Given the description of an element on the screen output the (x, y) to click on. 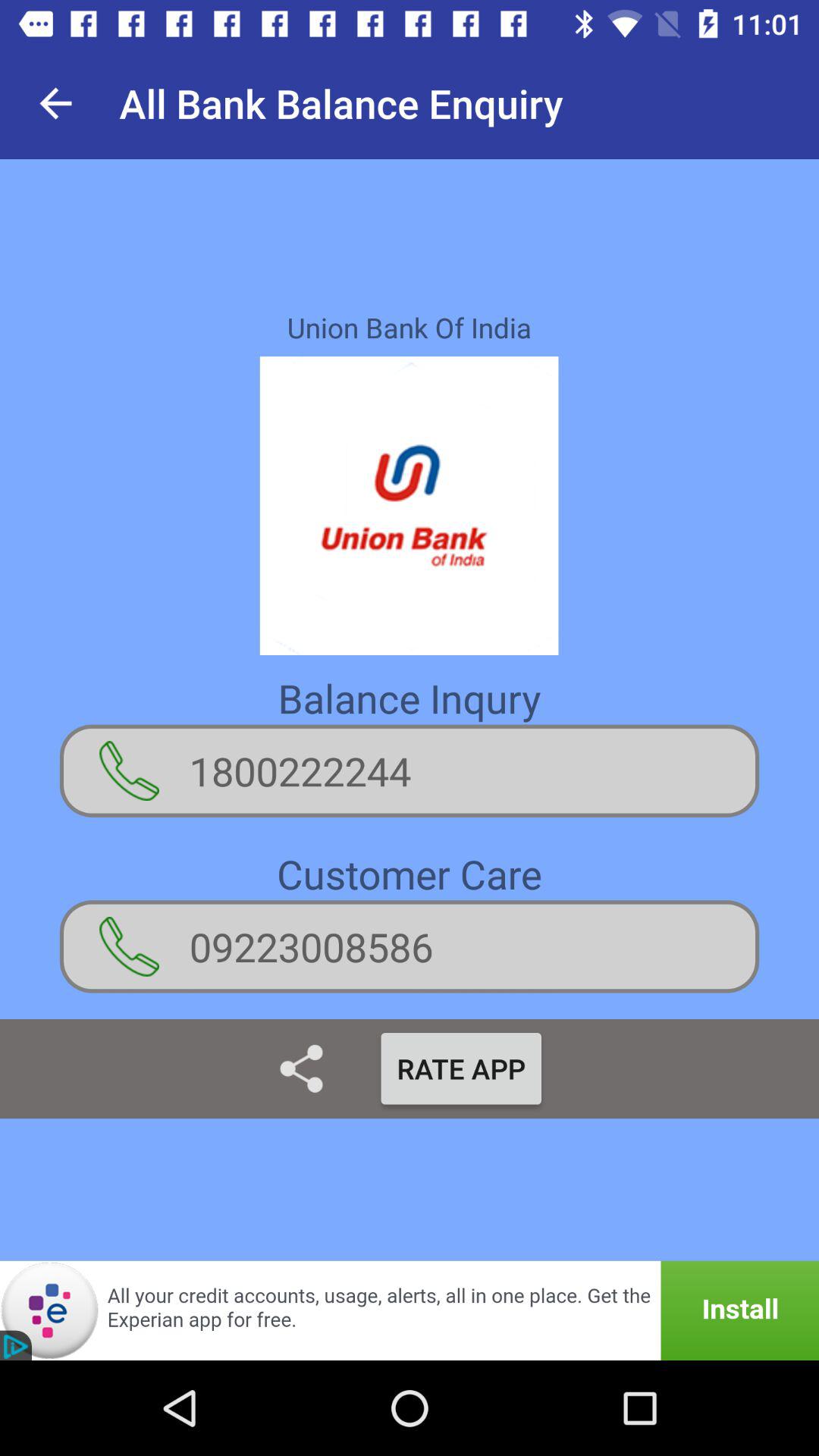
jump to rate app item (461, 1068)
